Given the description of an element on the screen output the (x, y) to click on. 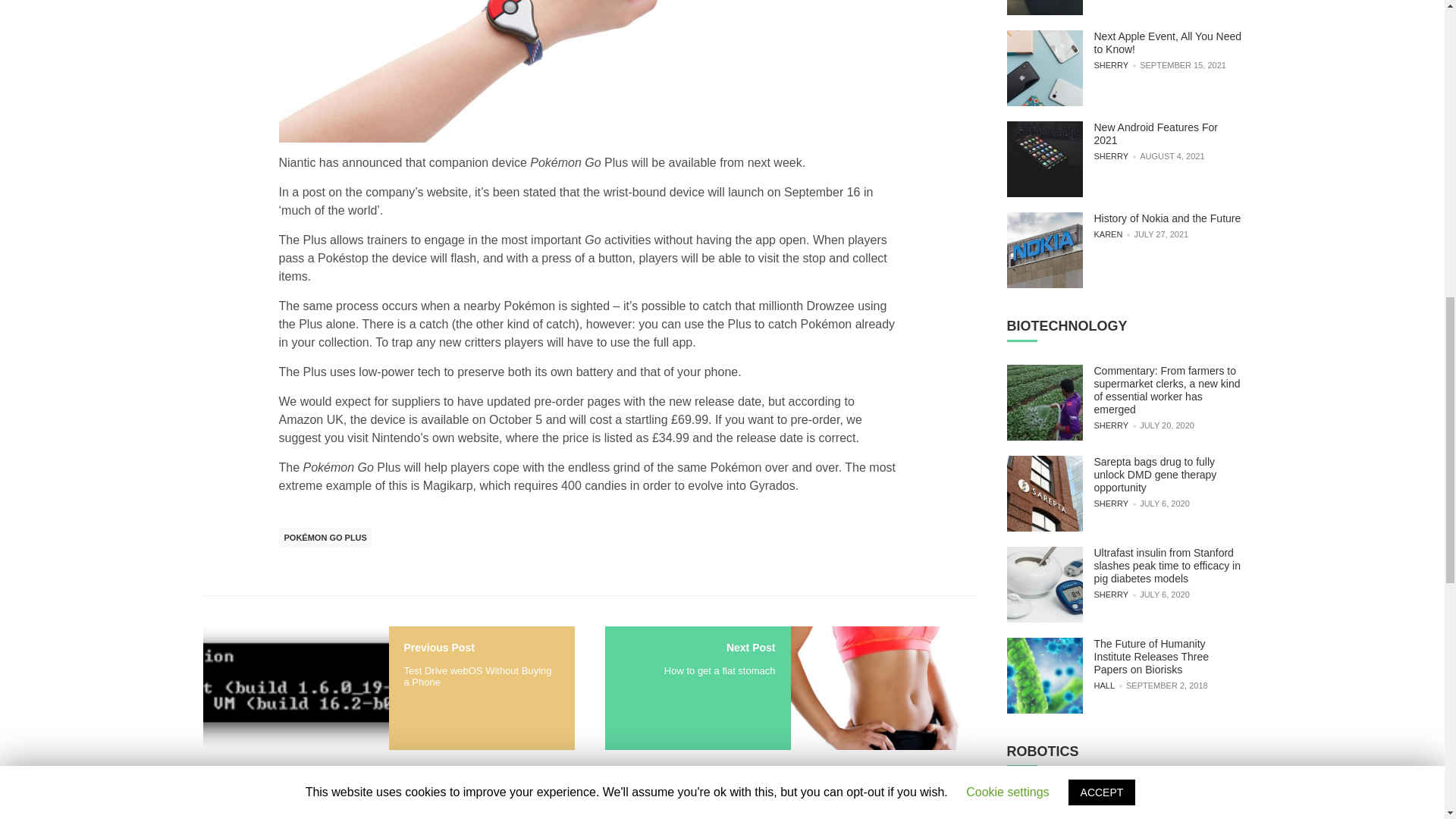
Next Post (751, 647)
Previous Post (438, 647)
